Given the description of an element on the screen output the (x, y) to click on. 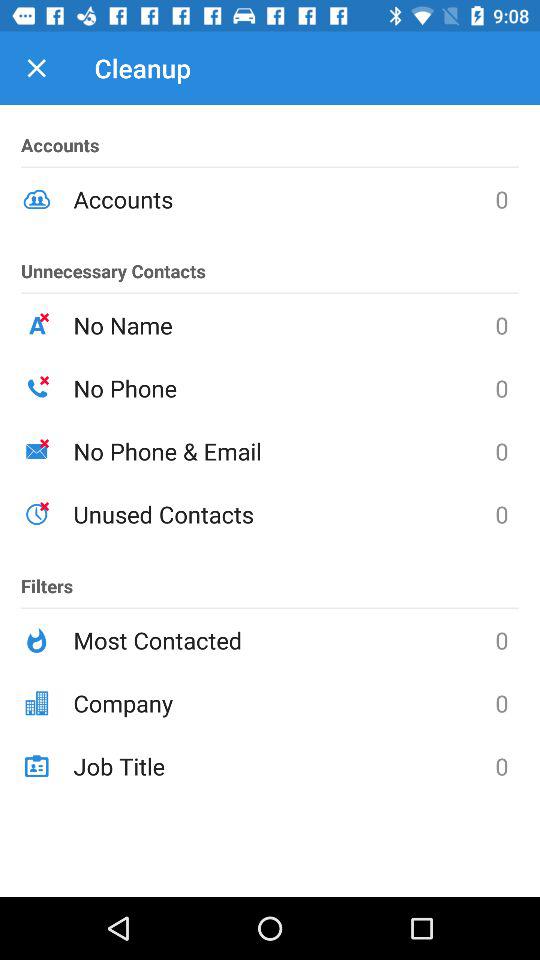
open icon below 0 icon (284, 766)
